Given the description of an element on the screen output the (x, y) to click on. 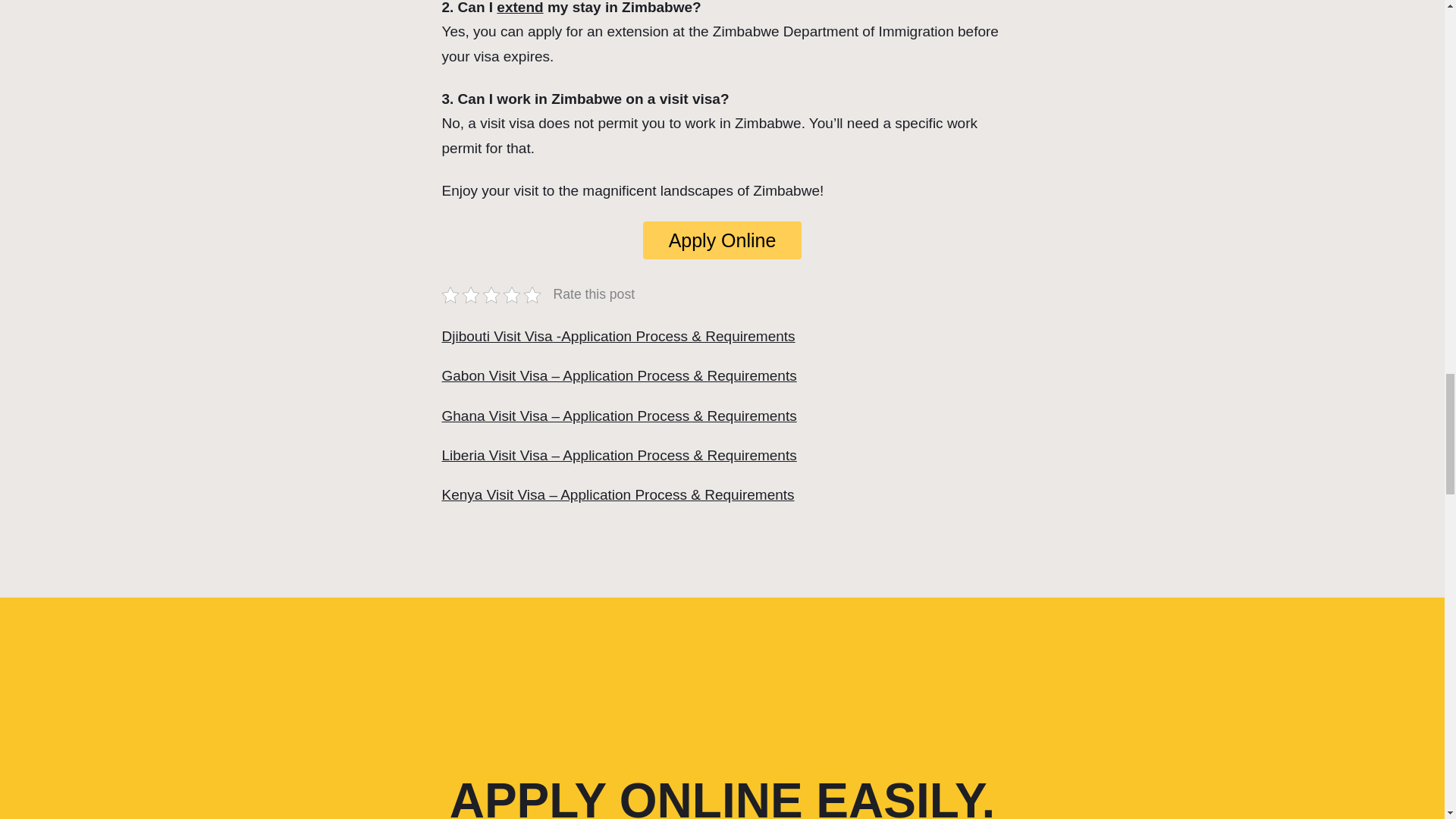
extend (519, 7)
Apply Online (722, 240)
Apply Visa Online (722, 240)
